Given the description of an element on the screen output the (x, y) to click on. 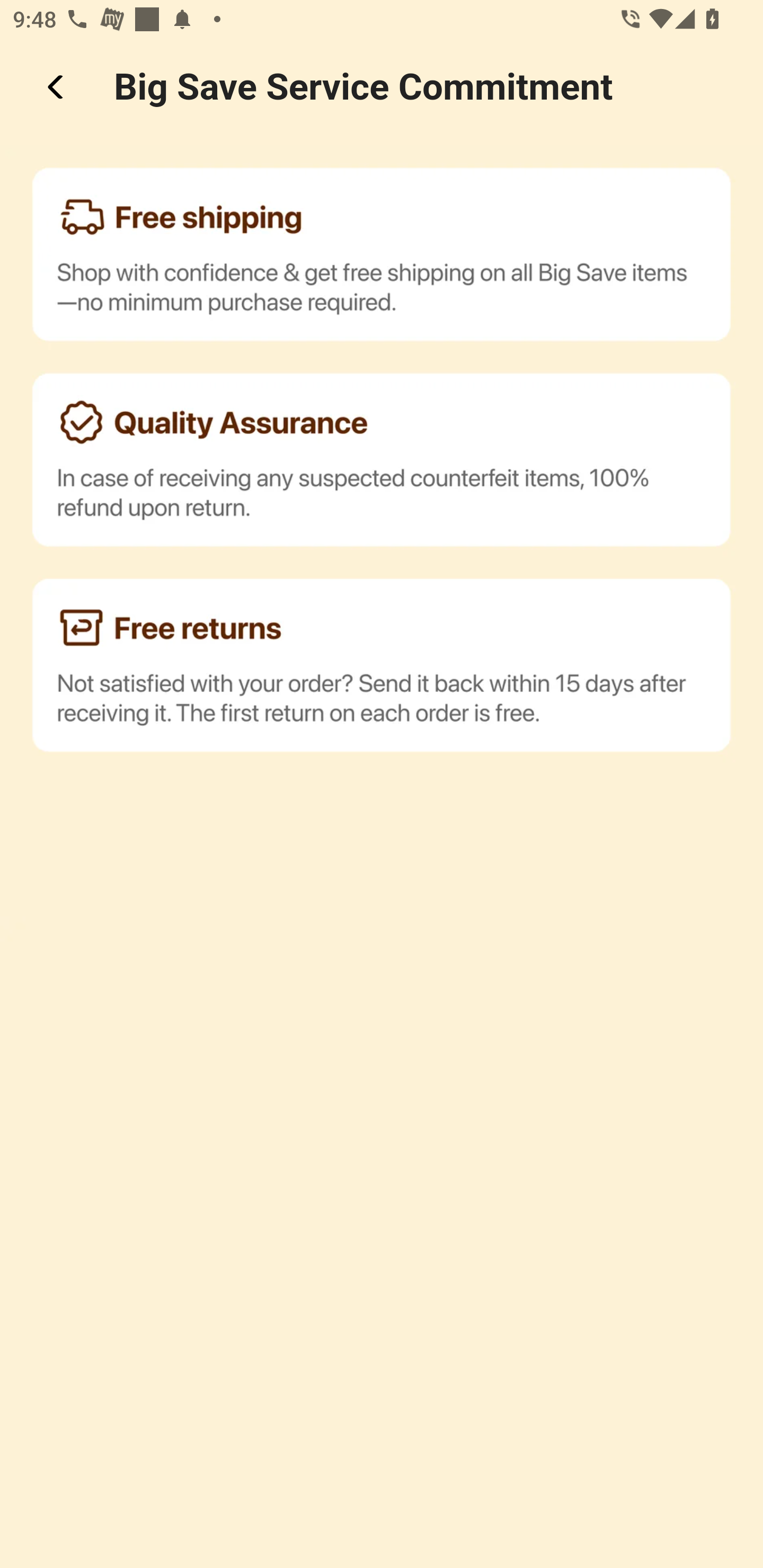
 (57, 86)
